Given the description of an element on the screen output the (x, y) to click on. 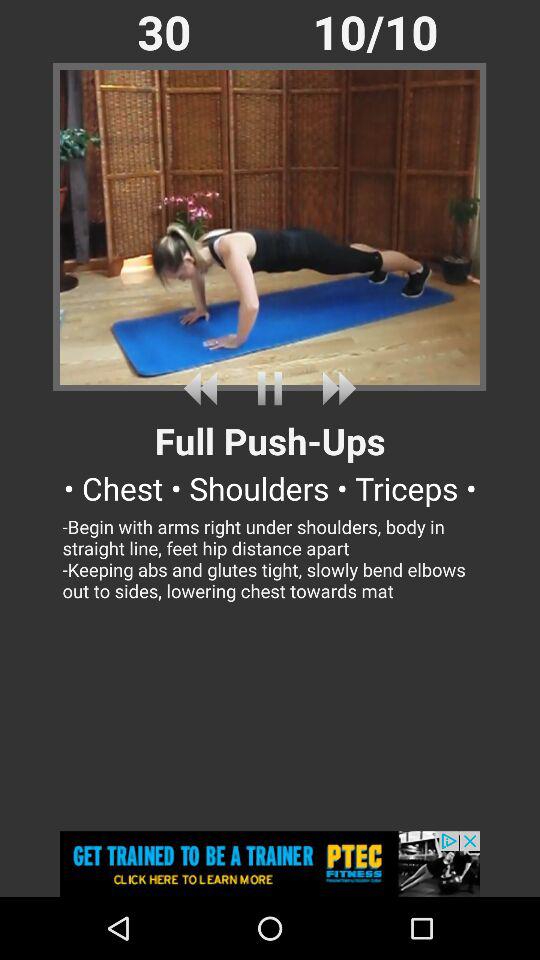
fast foward (335, 388)
